Given the description of an element on the screen output the (x, y) to click on. 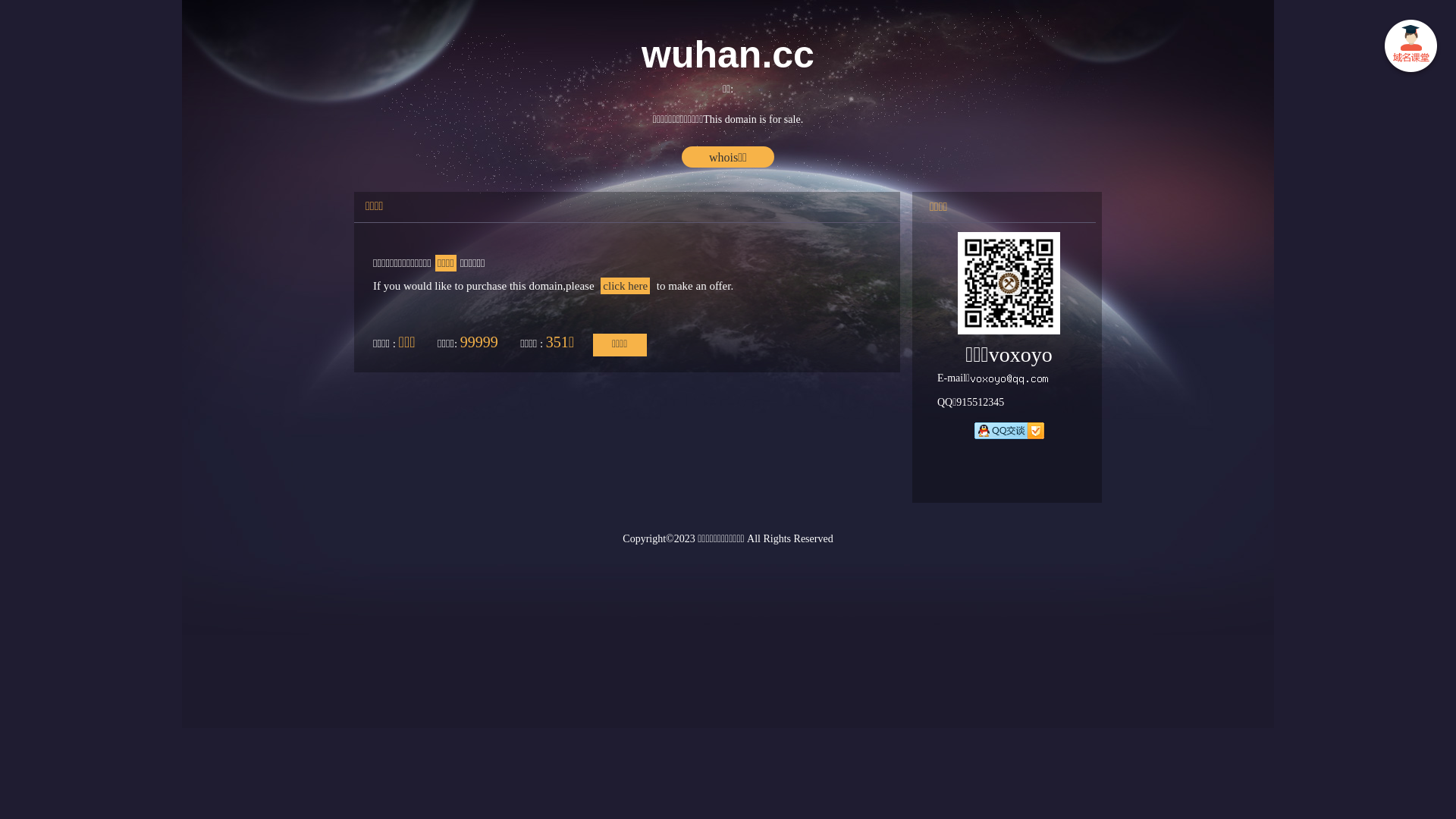
click here Element type: text (624, 285)
  Element type: text (1410, 48)
